Given the description of an element on the screen output the (x, y) to click on. 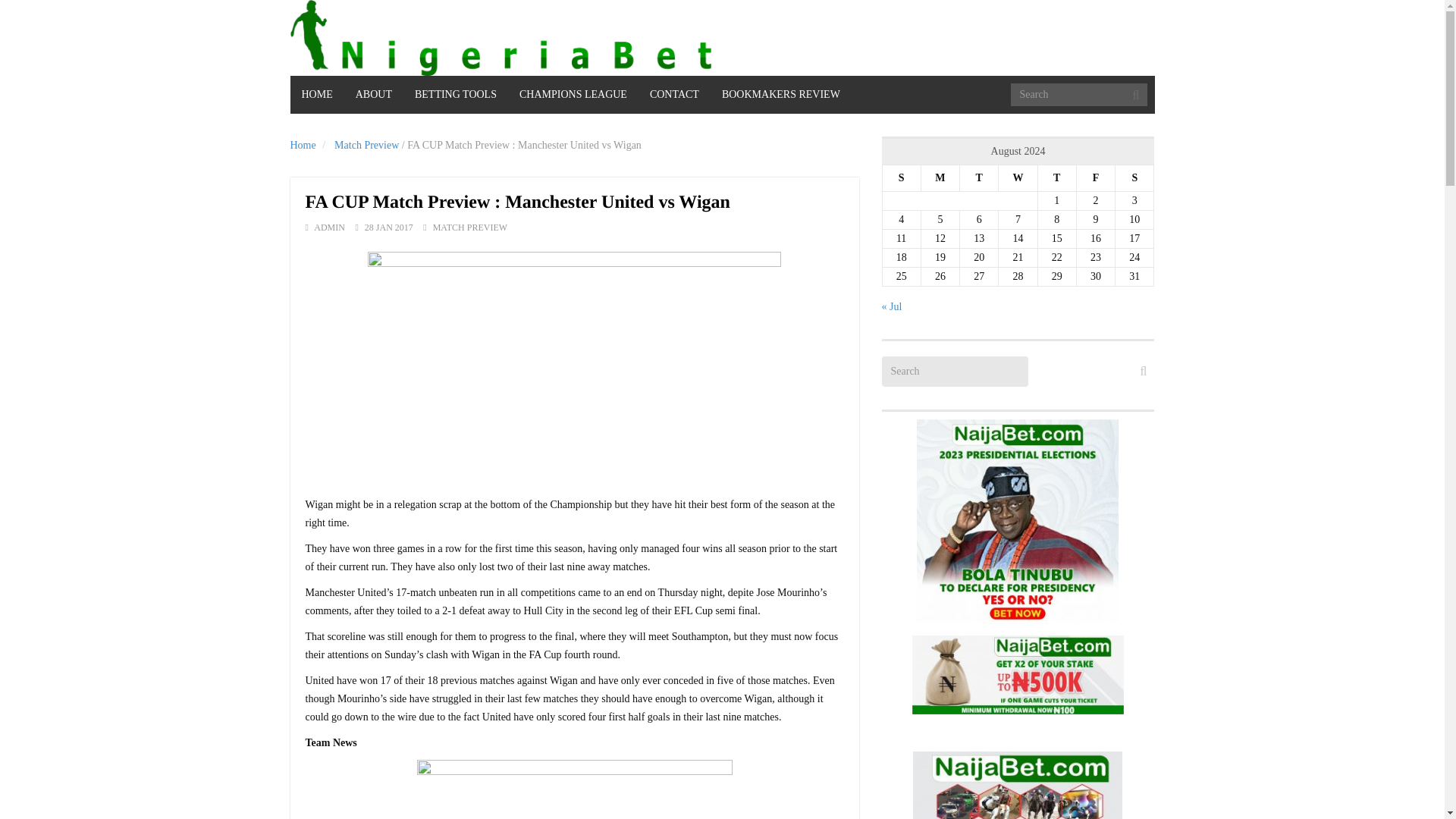
Match Preview (366, 144)
BOOKMAKERS REVIEW (780, 94)
Home (302, 144)
Saturday (1134, 178)
Tuesday (978, 178)
Thursday (1055, 178)
Wednesday (1017, 178)
CONTACT (674, 94)
BETTING TOOLS (455, 94)
HOME (316, 94)
Sunday (901, 178)
ADMIN (329, 226)
CHAMPIONS LEAGUE (573, 94)
MATCH PREVIEW (469, 226)
Monday (939, 178)
